Given the description of an element on the screen output the (x, y) to click on. 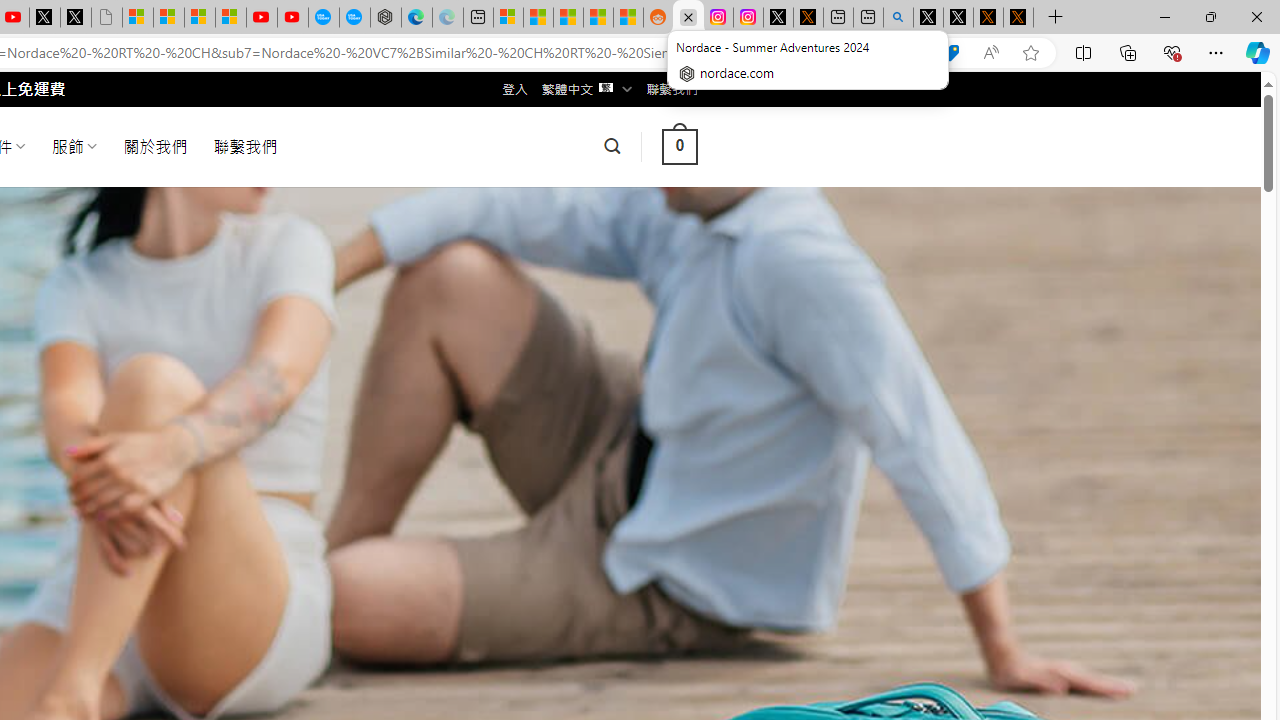
Shanghai, China weather forecast | Microsoft Weather (537, 17)
X Privacy Policy (1017, 17)
The most popular Google 'how to' searches (354, 17)
X (75, 17)
Shanghai, China Weather trends | Microsoft Weather (628, 17)
Settings and more (Alt+F) (1215, 52)
Untitled (106, 17)
